Given the description of an element on the screen output the (x, y) to click on. 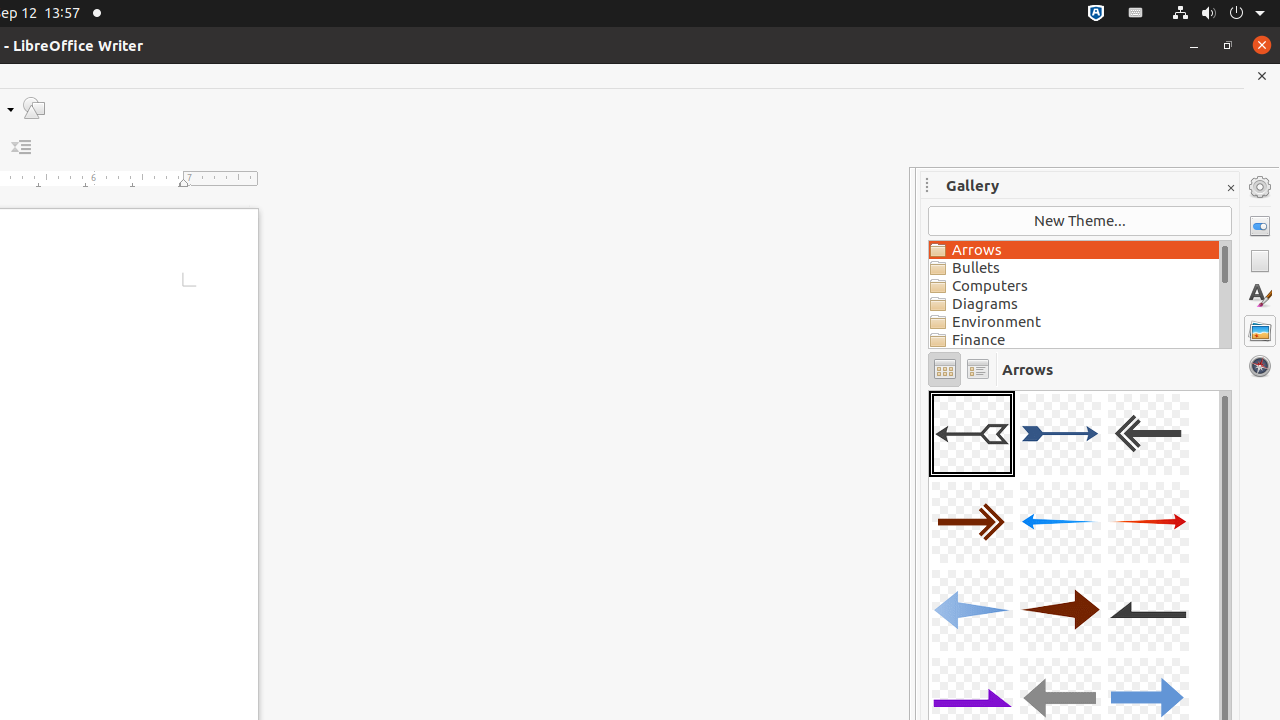
Close Sidebar Deck Element type: push-button (1230, 188)
A03-Arrow-Gray-Left Element type: list-item (1148, 433)
A05-Arrow-Blue-Left Element type: list-item (1060, 522)
System Element type: menu (1218, 13)
Diagrams Element type: list-item (1074, 304)
